Given the description of an element on the screen output the (x, y) to click on. 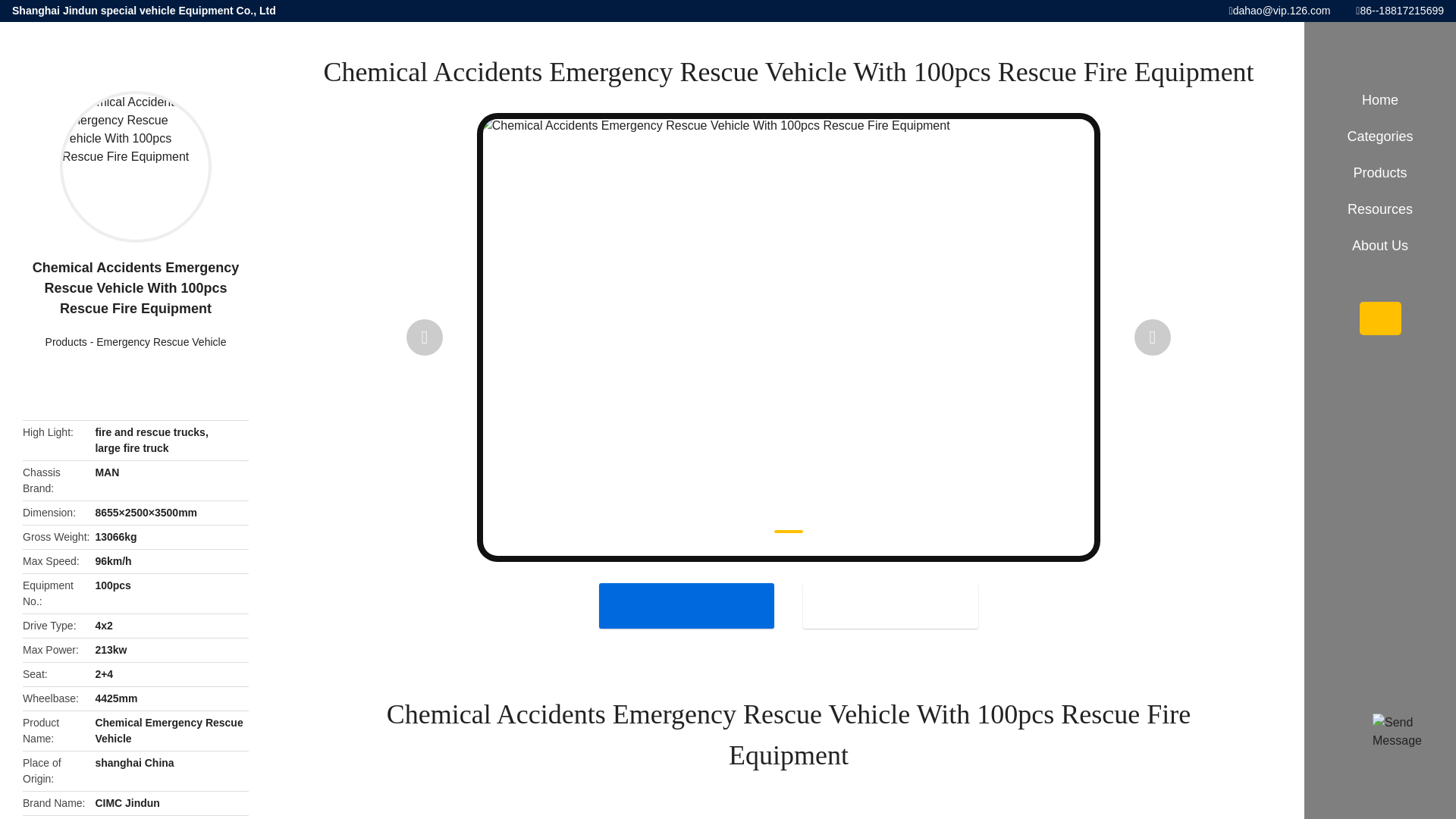
China Emergency Rescue Vehicle Manufacturers (160, 341)
Home (1379, 99)
Contact Now (889, 605)
Products (66, 341)
Categories (1379, 135)
Get Price (685, 605)
Emergency Rescue Vehicle (160, 341)
Products (66, 341)
Home (1379, 99)
Categories (1379, 135)
